Given the description of an element on the screen output the (x, y) to click on. 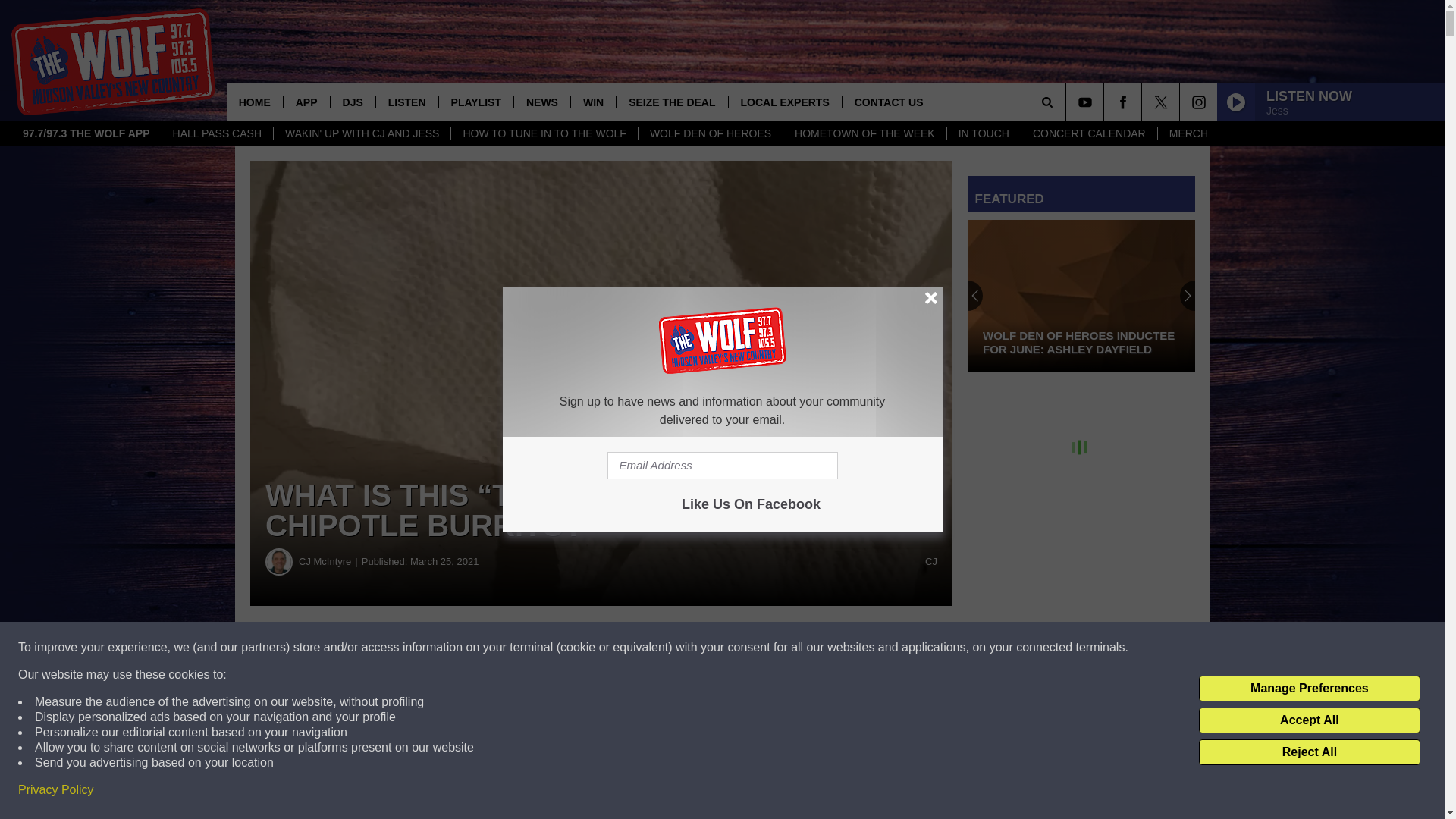
Accept All (1309, 720)
DJS (352, 102)
HOMETOWN OF THE WEEK (864, 133)
SEARCH (1068, 102)
HOW TO TUNE IN TO THE WOLF (543, 133)
Privacy Policy (55, 789)
WOLF DEN OF HEROES (710, 133)
Reject All (1309, 751)
SEARCH (1068, 102)
MERCH (1188, 133)
Manage Preferences (1309, 688)
Email Address (722, 465)
WIN (592, 102)
WAKIN' UP WITH CJ AND JESS (361, 133)
SEIZE THE DEAL (670, 102)
